Given the description of an element on the screen output the (x, y) to click on. 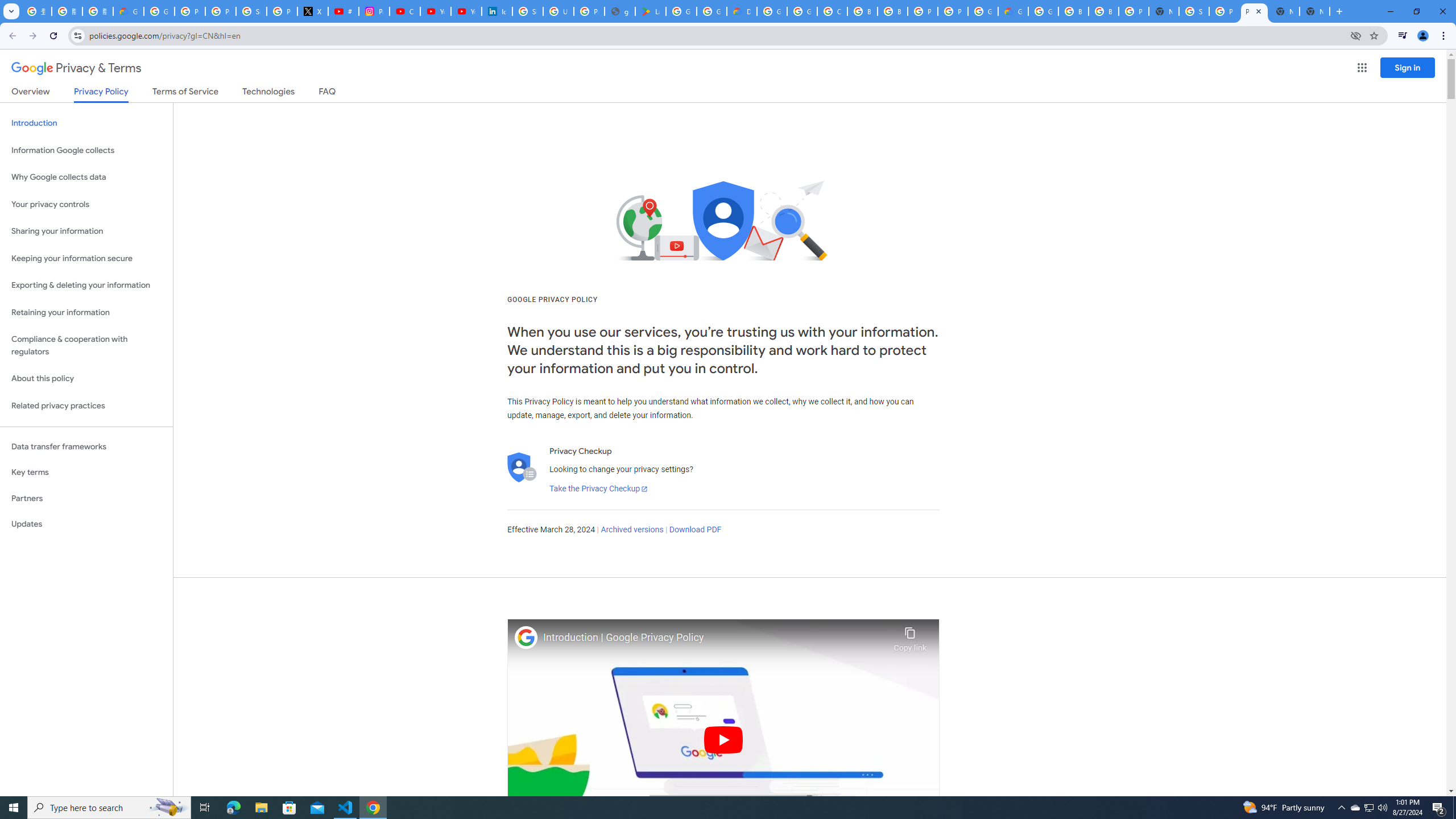
Google Cloud Platform (771, 11)
Google Cloud Platform (982, 11)
Play (723, 739)
